Given the description of an element on the screen output the (x, y) to click on. 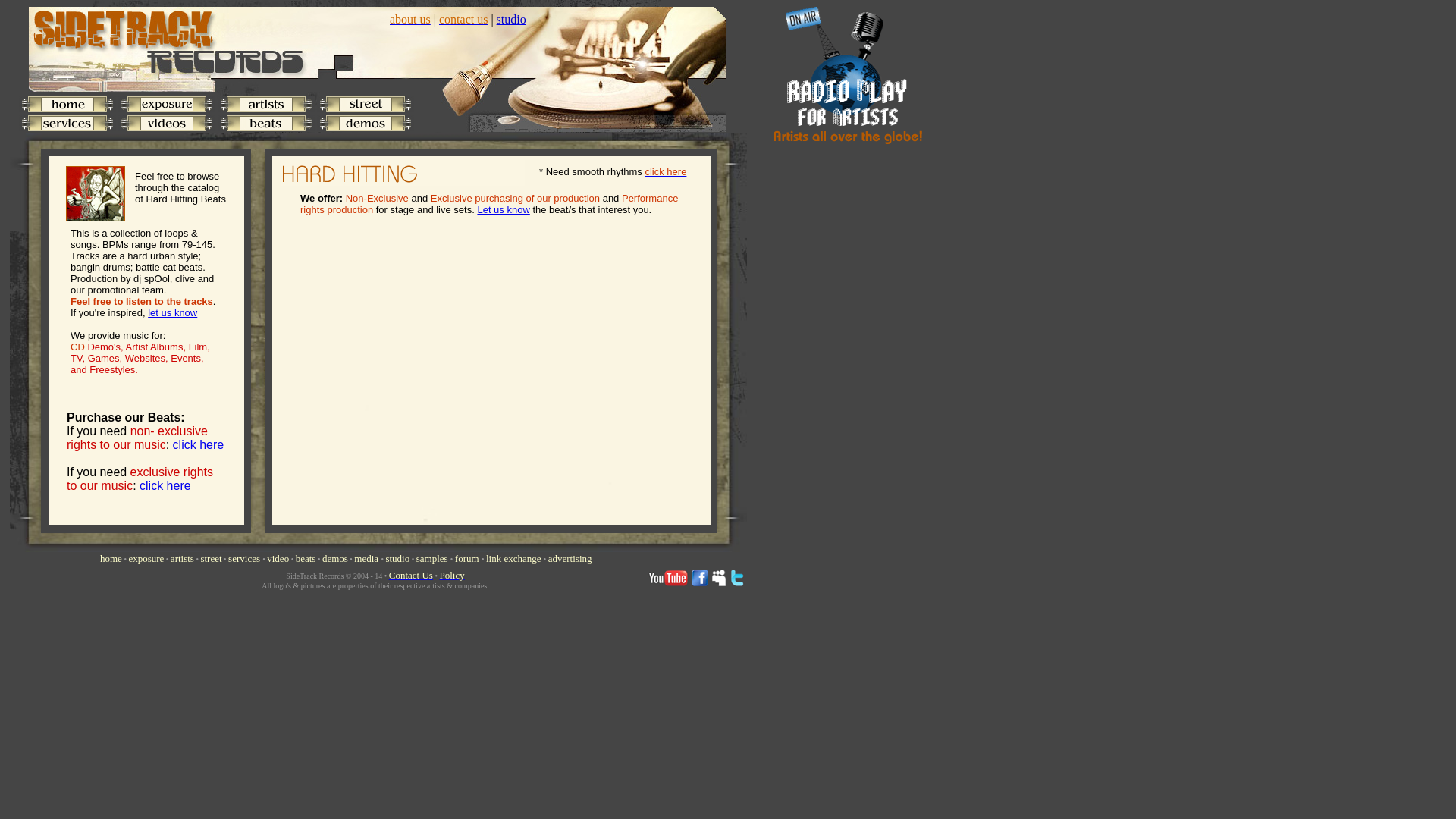
beats (305, 558)
let us know (172, 312)
Policy (451, 574)
forum (466, 558)
exposure (145, 558)
click here (198, 444)
artists (181, 558)
link exchange (513, 558)
click here (665, 171)
click here (164, 485)
